Given the description of an element on the screen output the (x, y) to click on. 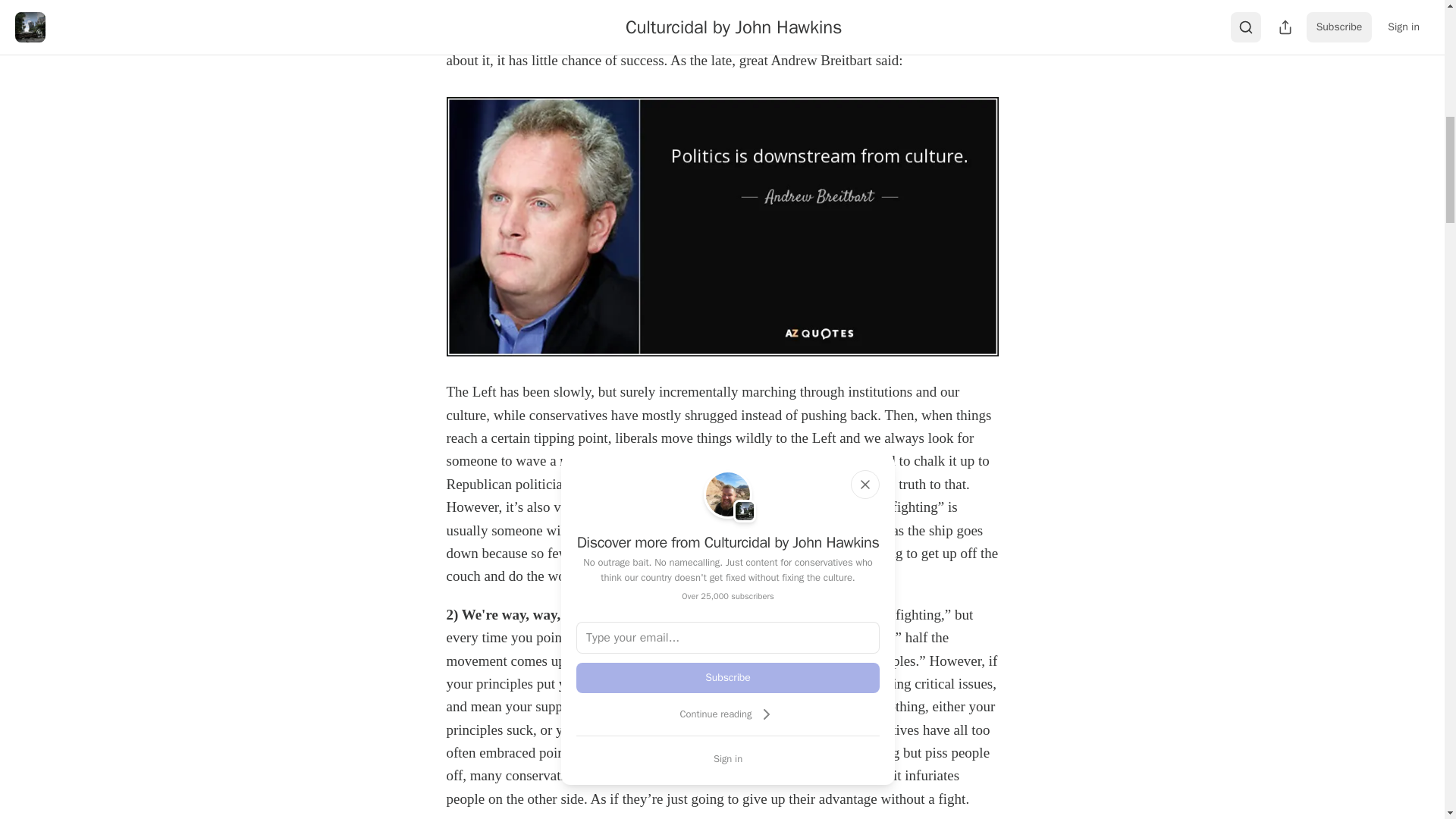
Sign in (727, 758)
Subscribe (727, 677)
